Given the description of an element on the screen output the (x, y) to click on. 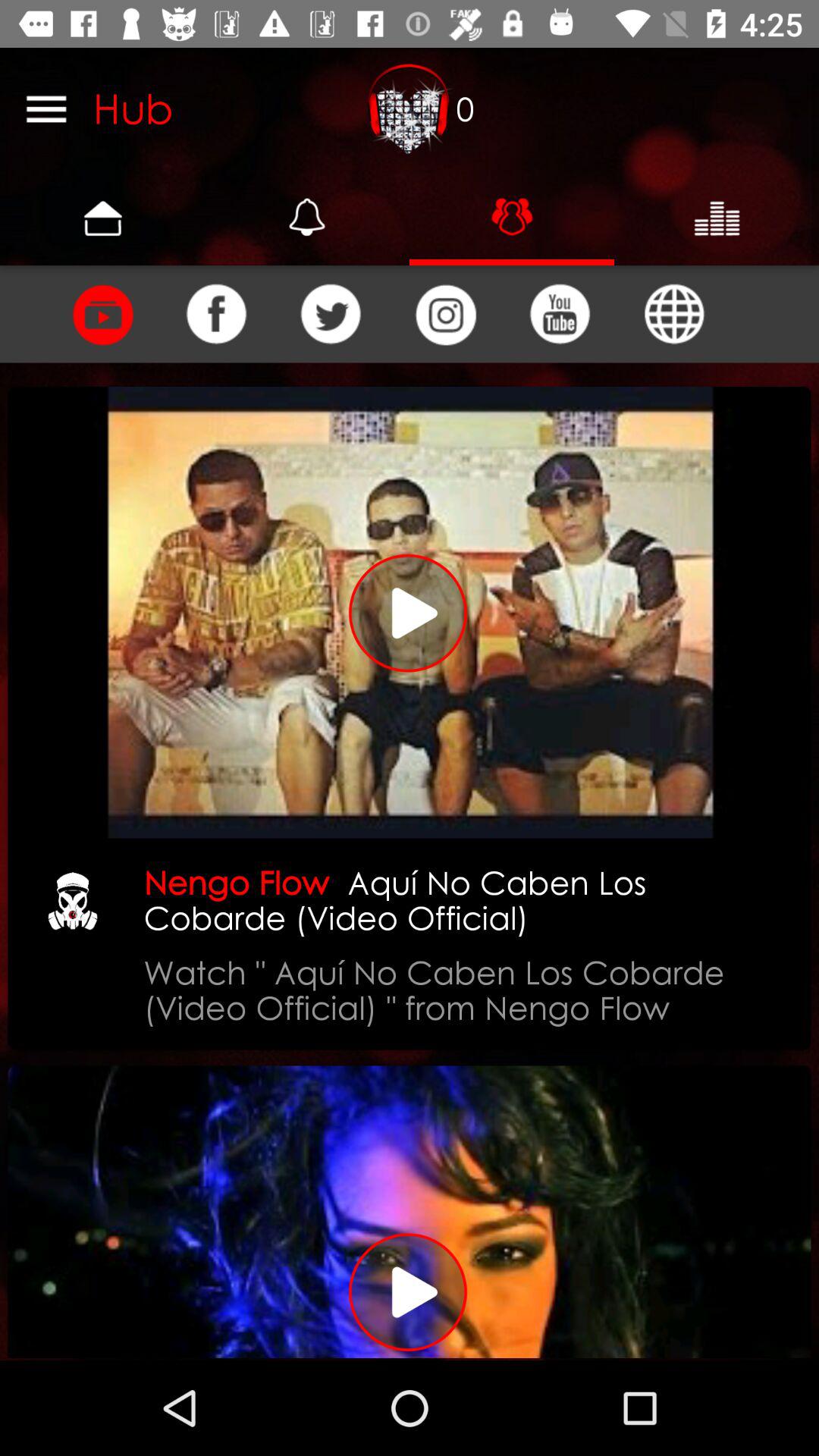
launch item to the right of the hub item (409, 108)
